Given the description of an element on the screen output the (x, y) to click on. 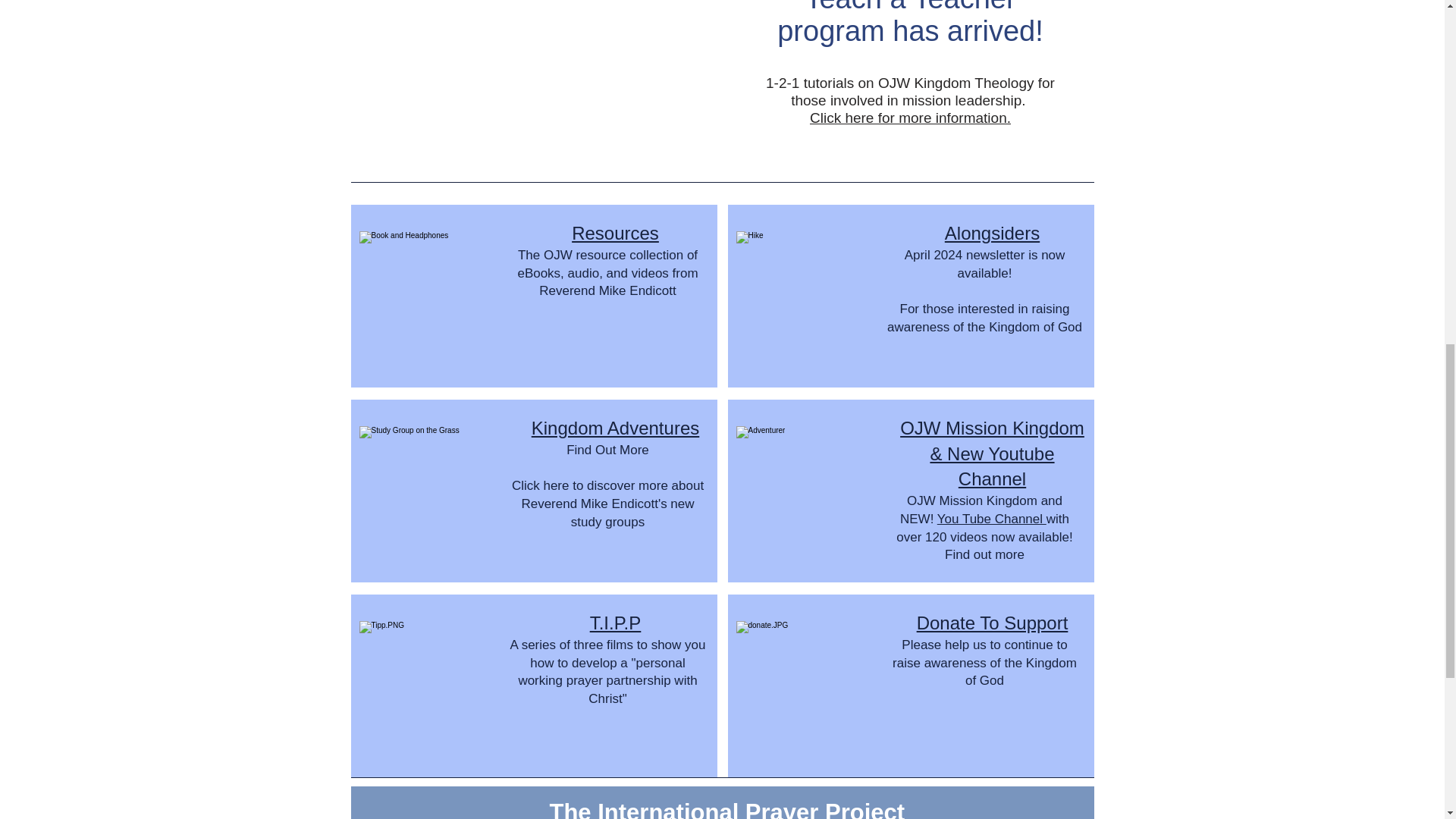
Click here for more information. (909, 117)
Resources (615, 232)
Donate To Support (992, 622)
Find Out More (607, 450)
You Tube Channel (991, 518)
Alongsiders (991, 232)
T.I.P.P (615, 622)
